Given the description of an element on the screen output the (x, y) to click on. 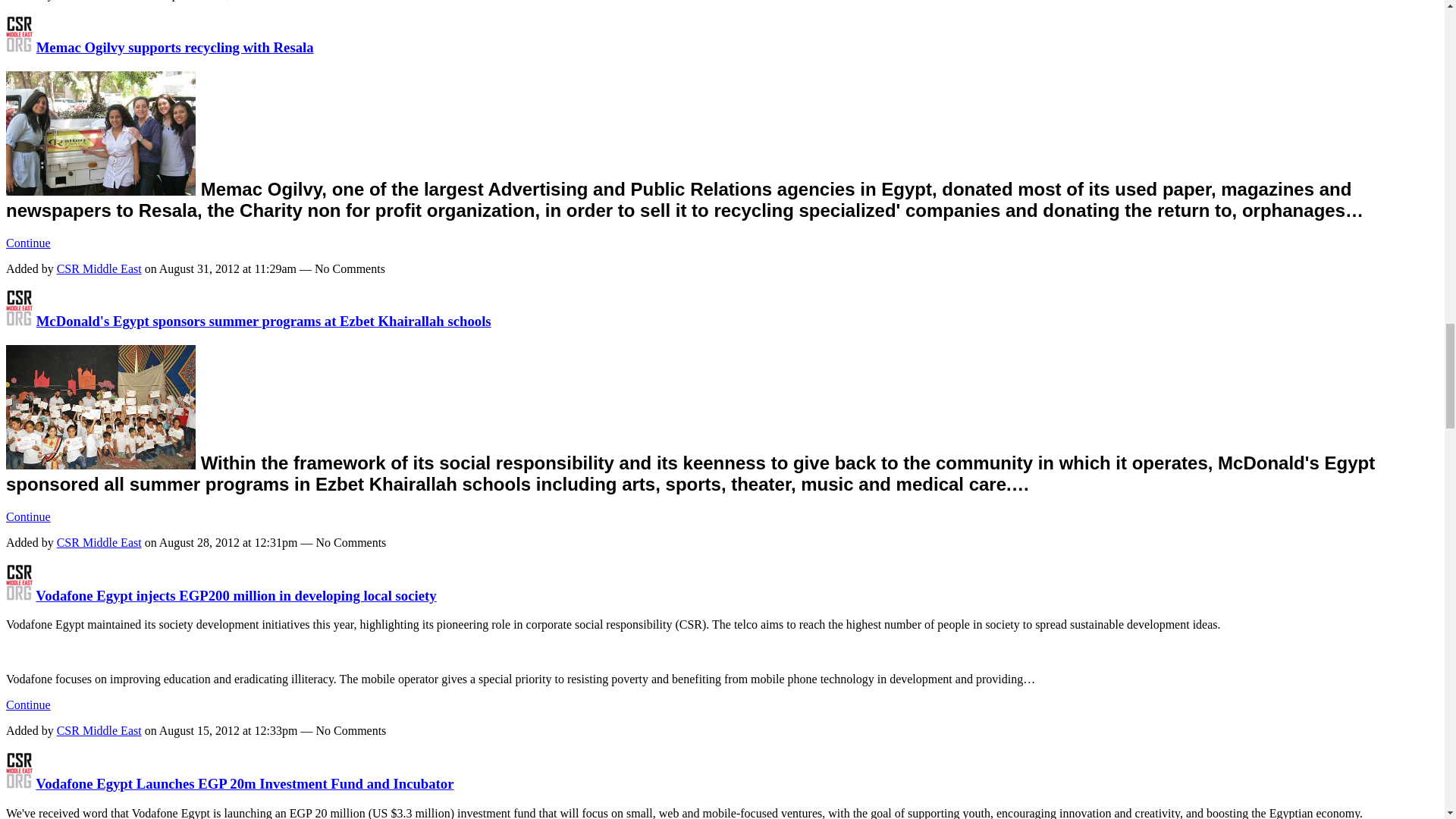
CSR Middle East (18, 47)
CSR Middle East (18, 783)
CSR Middle East (18, 320)
CSR Middle East (18, 595)
